Given the description of an element on the screen output the (x, y) to click on. 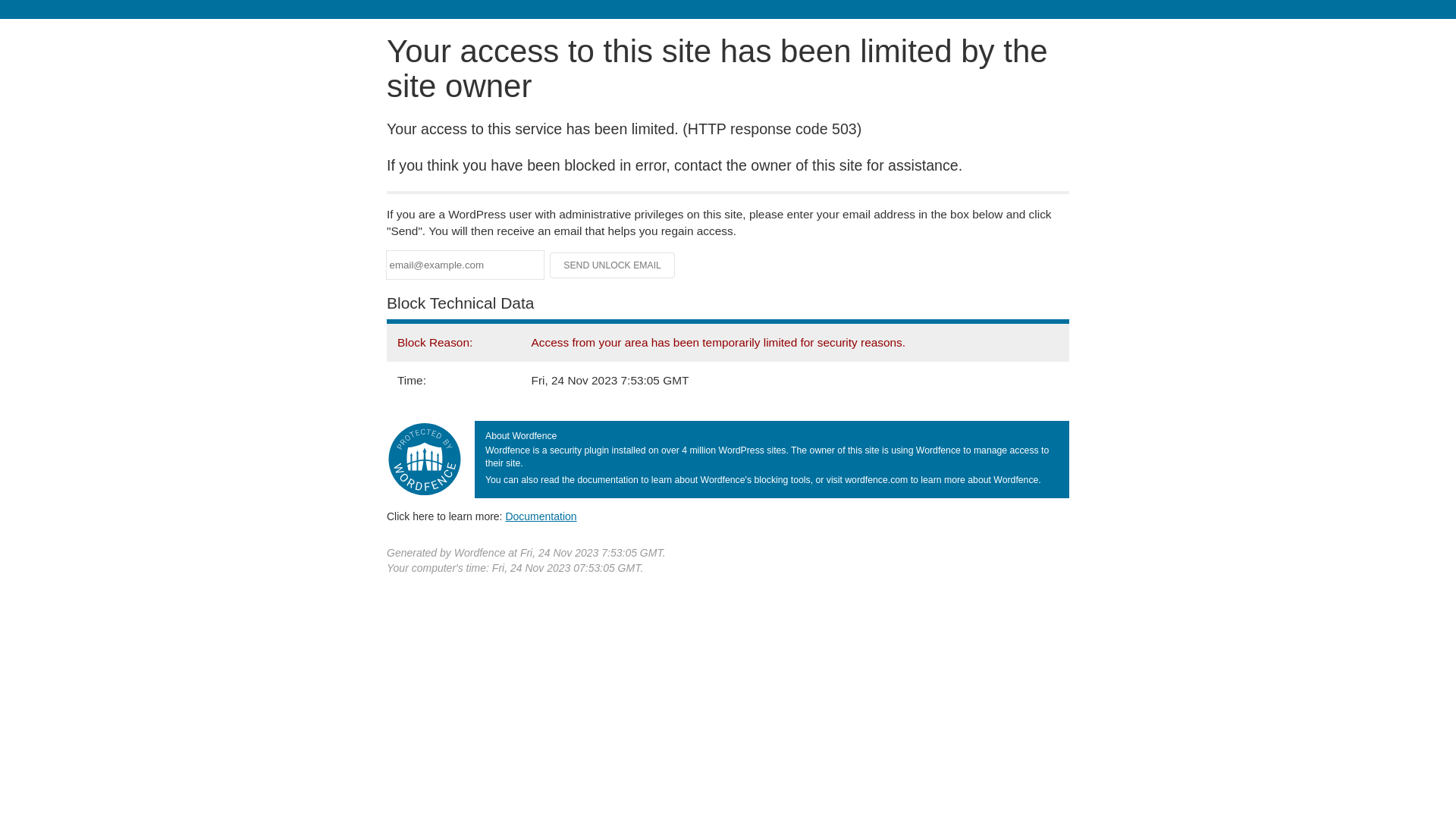
Send Unlock Email Element type: text (612, 265)
Documentation Element type: text (540, 516)
